Given the description of an element on the screen output the (x, y) to click on. 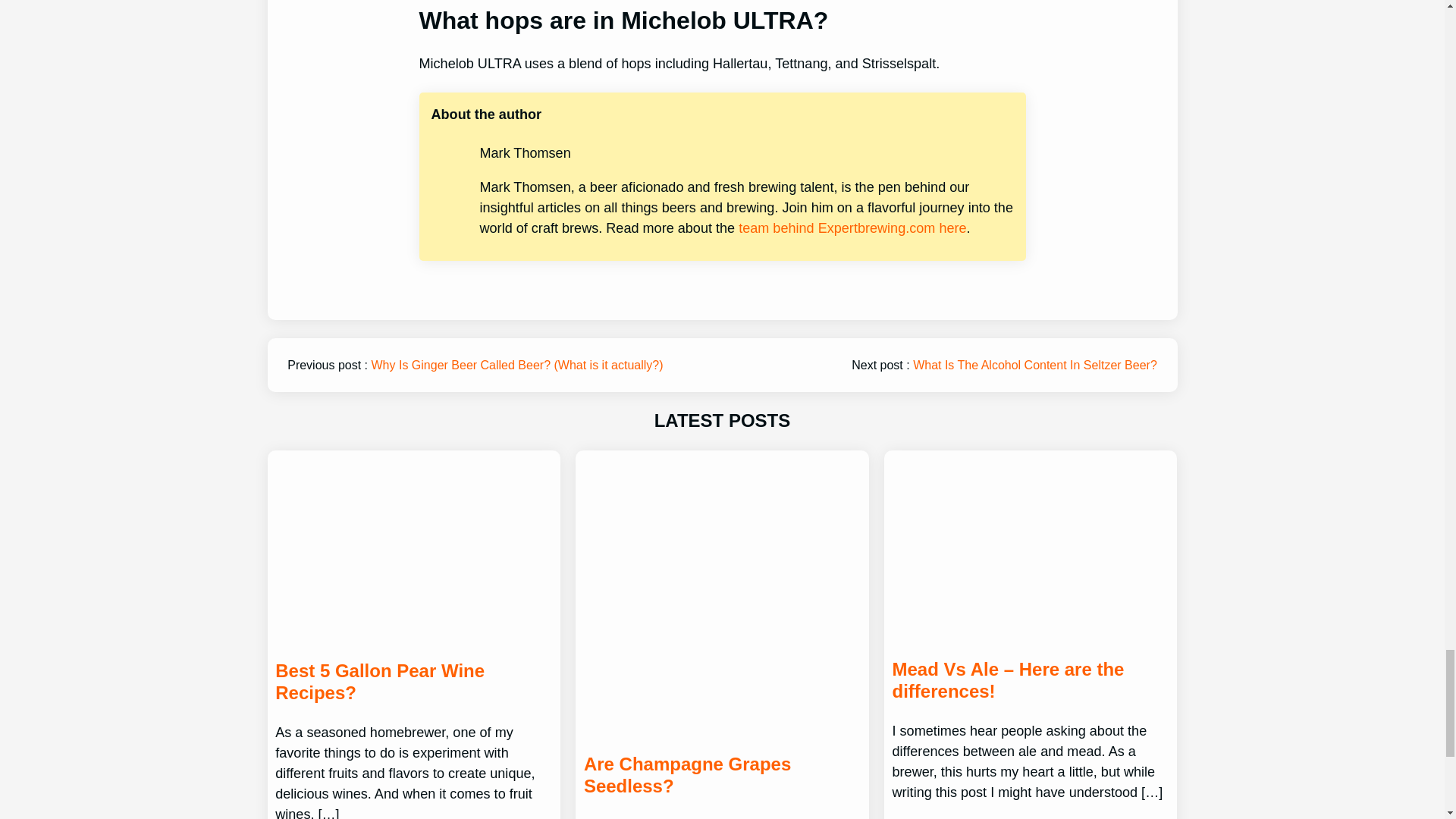
Are Champagne Grapes Seedless? (721, 775)
What Is The Alcohol Content In Seltzer Beer? (1034, 364)
team behind Expertbrewing.com here (852, 227)
Best 5 Gallon Pear Wine Recipes? (413, 682)
